Given the description of an element on the screen output the (x, y) to click on. 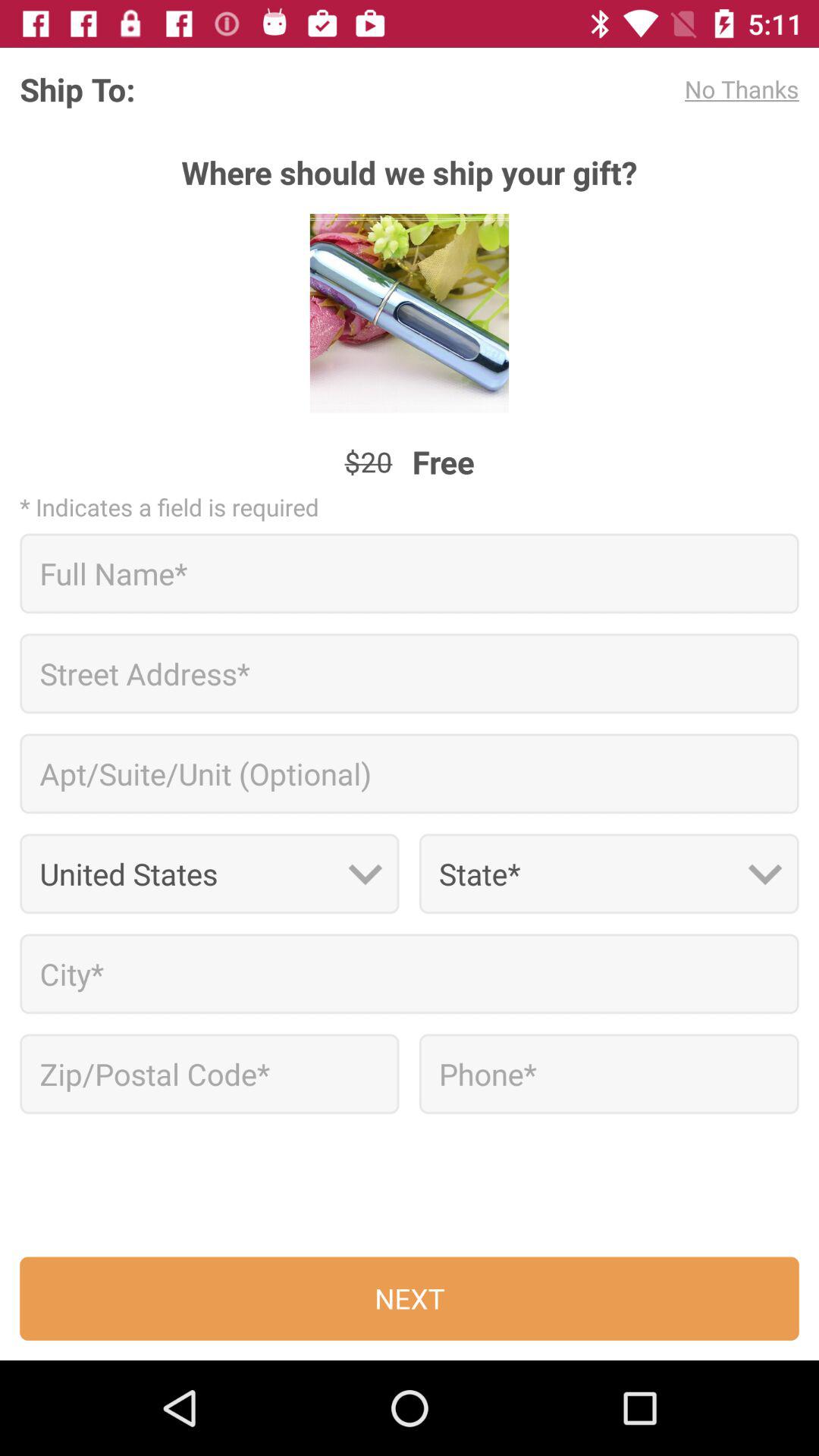
text box to enter phone number (609, 1073)
